Given the description of an element on the screen output the (x, y) to click on. 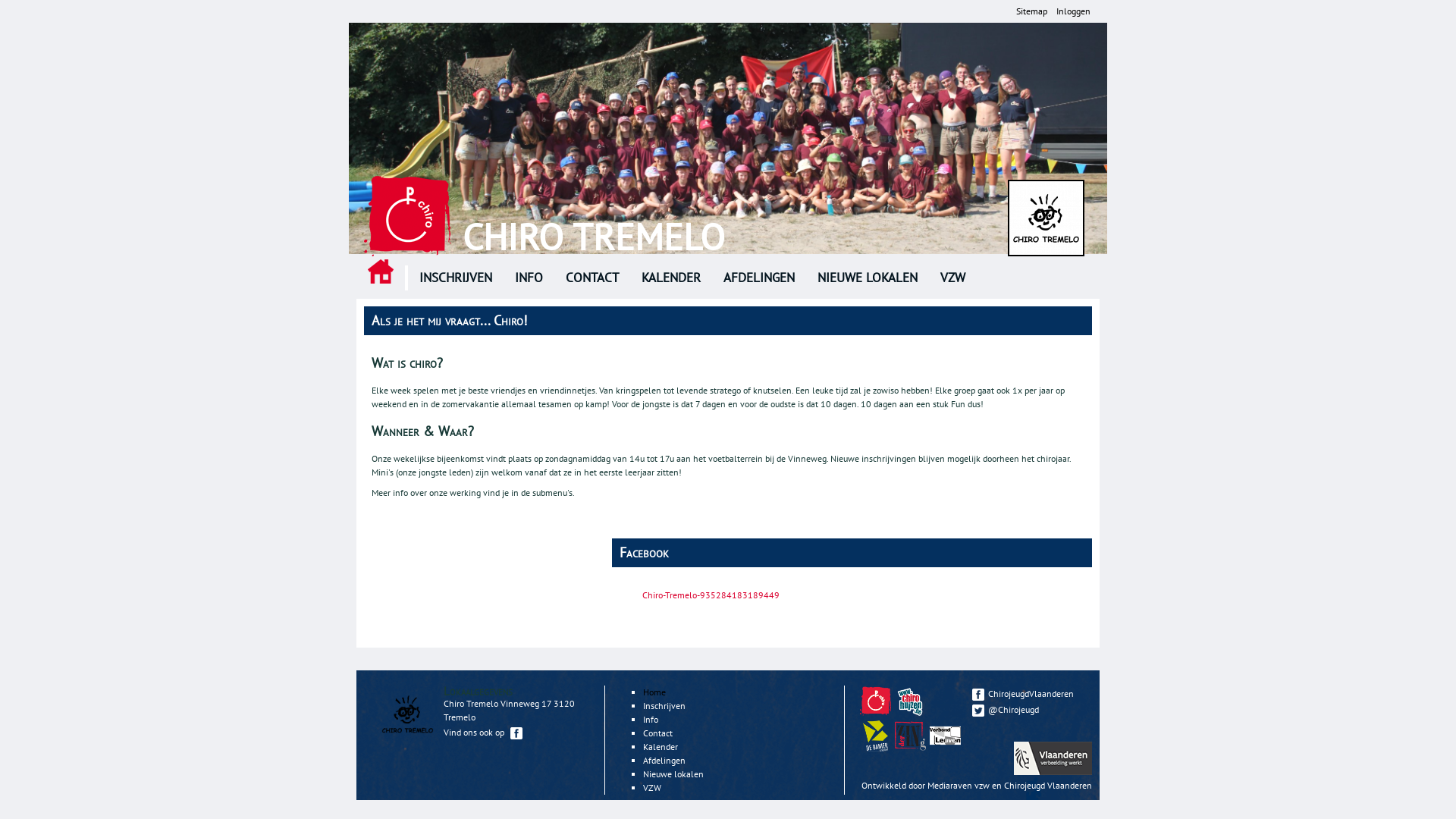
Contact Element type: text (657, 732)
INSCHRIJVEN Element type: text (455, 278)
Home Element type: hover (407, 215)
KALENDER Element type: text (671, 278)
CONTACT Element type: text (592, 278)
Zindering Element type: hover (909, 735)
Zindering Element type: hover (911, 747)
Twitter Element type: hover (978, 710)
Zindering Element type: hover (946, 747)
ChirojeugdVlaanderen Element type: text (1028, 693)
Chirojeugd Vlaanderen Element type: hover (875, 700)
Inschrijven Element type: text (664, 705)
Chirojeugd Vlaanderen Element type: hover (876, 712)
Home Element type: text (654, 691)
INFO Element type: text (528, 278)
Chirohuizen Element type: hover (911, 712)
Facebook Element type: hover (978, 694)
CHIRO TREMELO Element type: text (593, 236)
Sitemap Element type: text (1031, 10)
Home Element type: hover (1045, 217)
Inloggen Element type: text (1073, 10)
VZW Element type: text (652, 787)
NIEUWE LOKALEN Element type: text (867, 278)
Mediaraven vzw Element type: text (958, 784)
Kalender Element type: text (660, 746)
Chirojeugd Vlaanderen Element type: text (1048, 784)
De Banier Element type: hover (876, 747)
Chiro-Tremelo-935284183189449 Element type: text (710, 594)
Info Element type: text (650, 718)
Nieuwe lokalen Element type: text (673, 773)
VZW Element type: text (952, 278)
De Banier Element type: hover (875, 735)
@Chirojeugd Element type: text (1028, 709)
AFDELINGEN Element type: text (759, 278)
Verbond Leuven Element type: hover (944, 735)
Afdelingen Element type: text (664, 759)
Facebook Element type: hover (516, 733)
Chirohuizen Element type: hover (909, 700)
HOME Element type: text (380, 271)
